Given the description of an element on the screen output the (x, y) to click on. 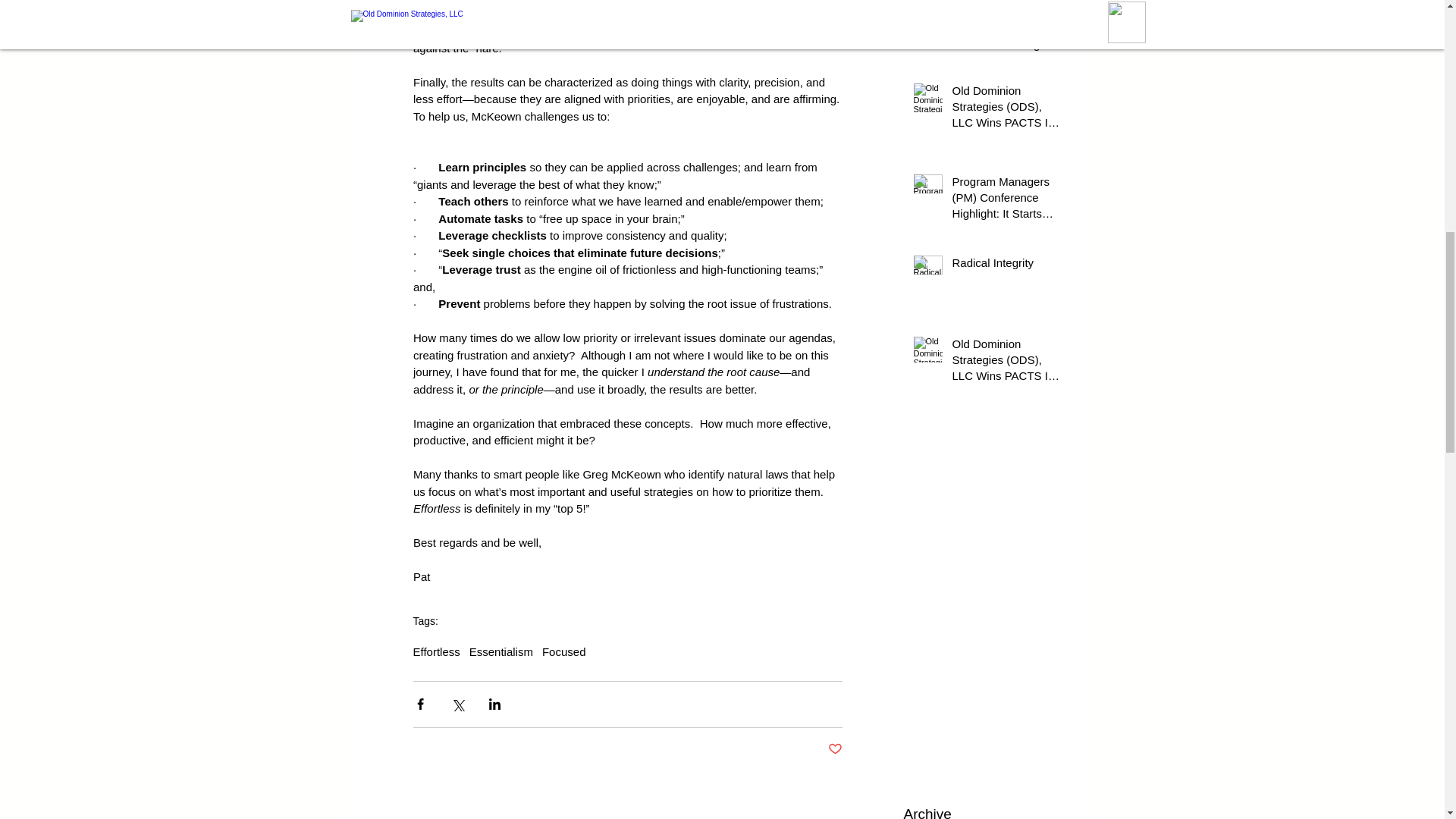
Focused (563, 651)
Post not marked as liked (835, 749)
Effortless (436, 651)
Essentialism (500, 651)
Radical Integrity (1006, 265)
